Given the description of an element on the screen output the (x, y) to click on. 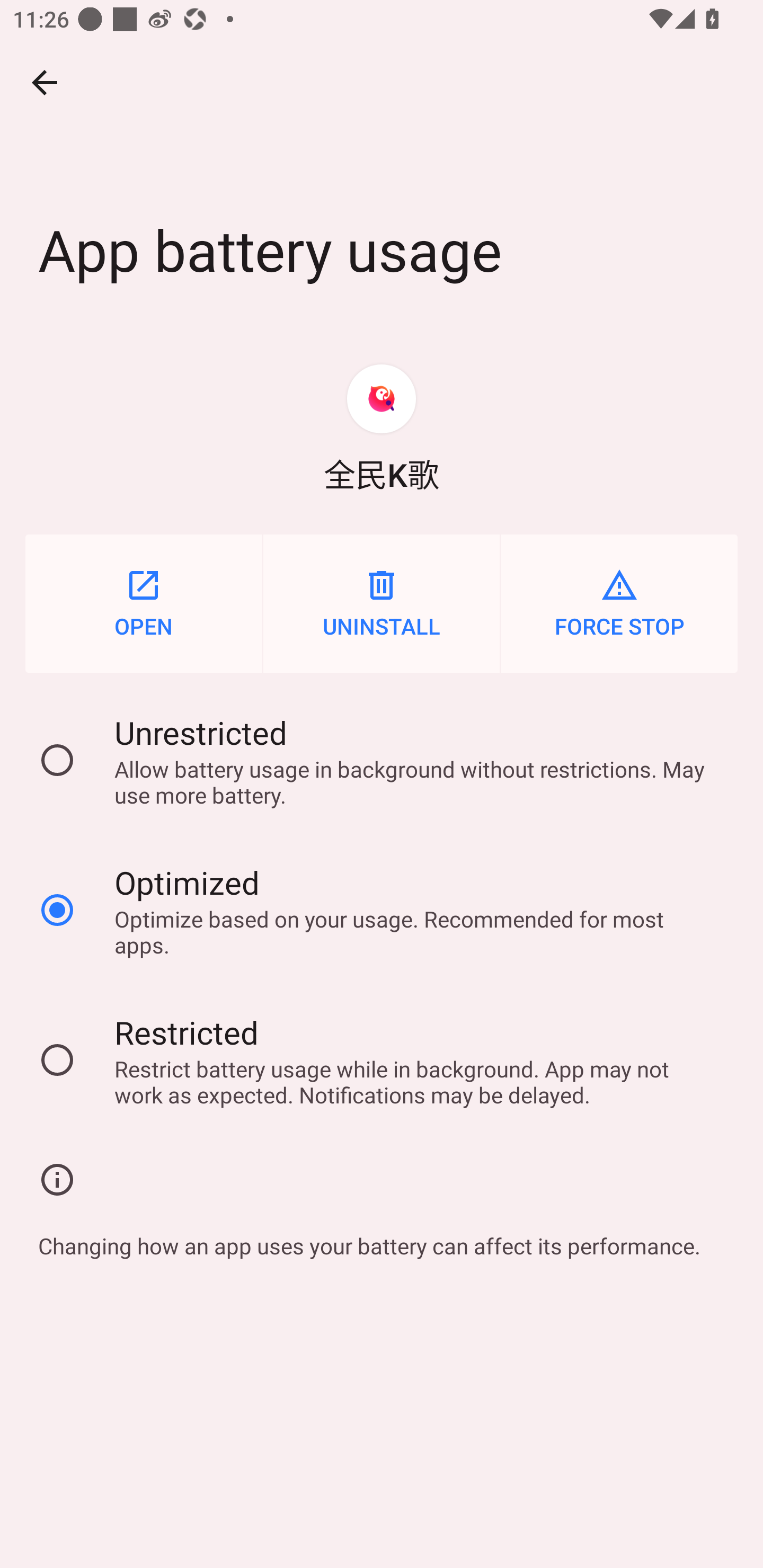
Navigate up (44, 82)
OPEN (143, 603)
UNINSTALL (381, 603)
FORCE STOP (619, 603)
